Given the description of an element on the screen output the (x, y) to click on. 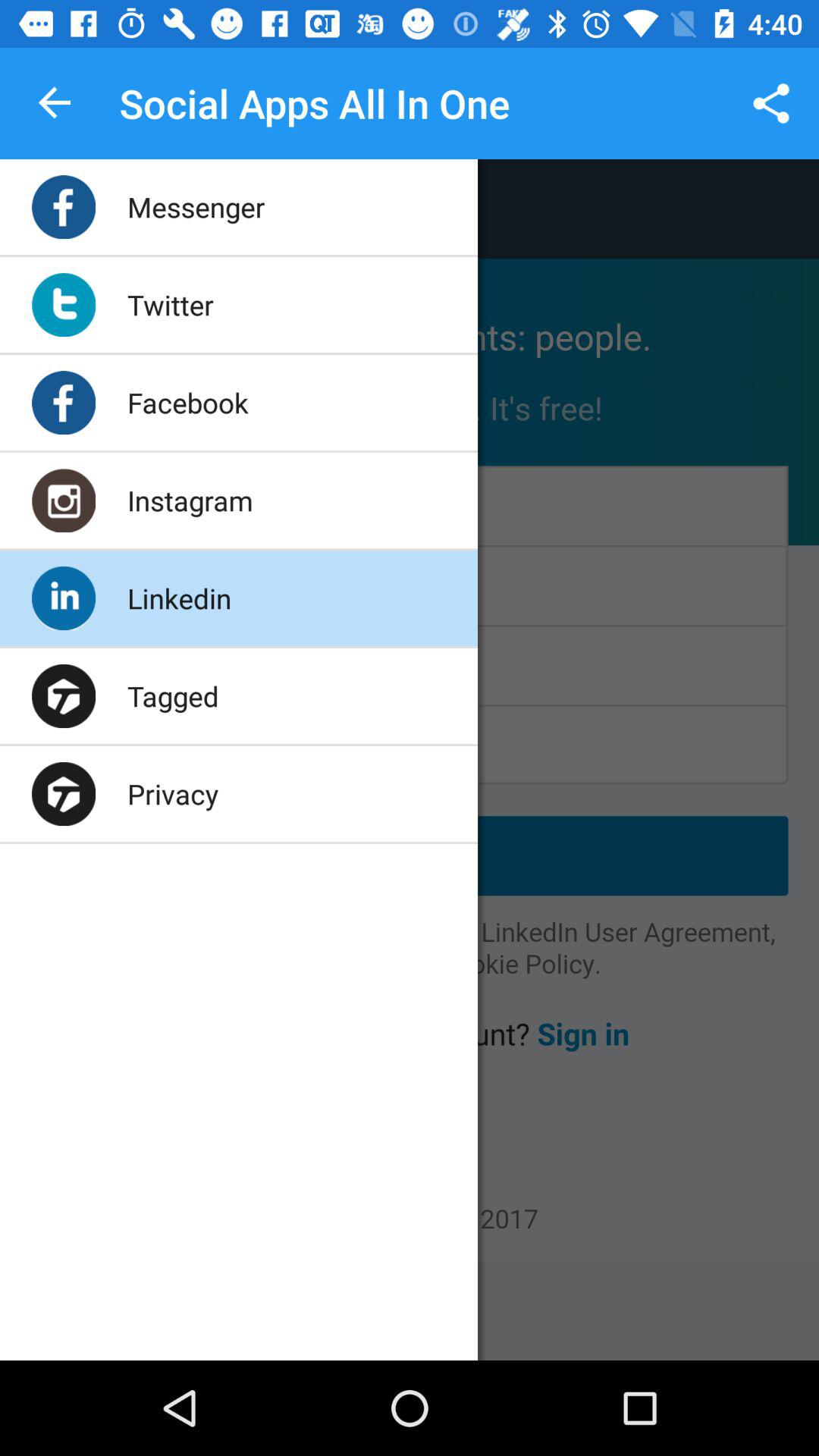
select item at the top right corner (771, 103)
